Given the description of an element on the screen output the (x, y) to click on. 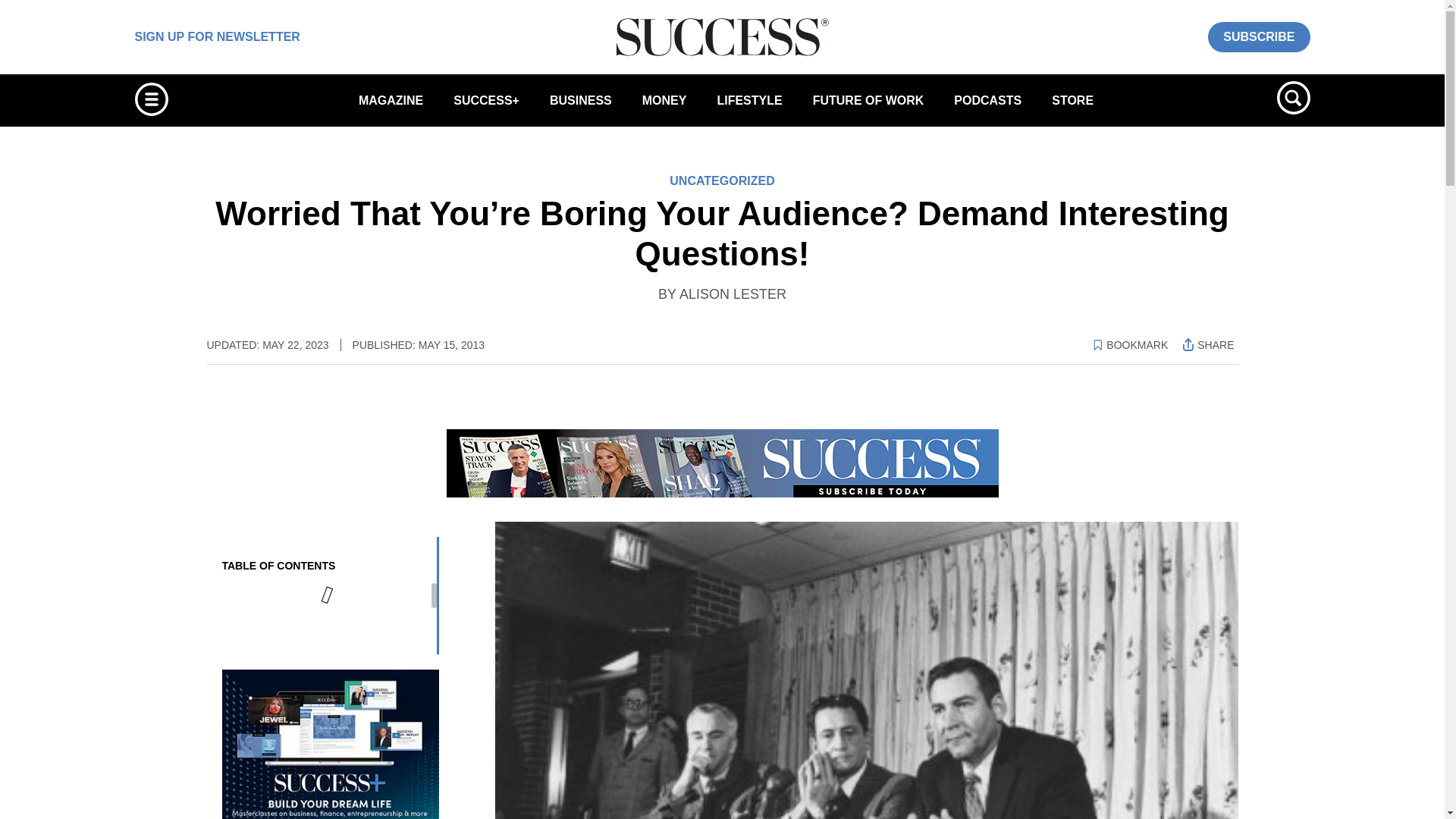
STORE (1072, 100)
MAGAZINE (390, 100)
SIGN UP FOR NEWSLETTER (217, 36)
PODCASTS (987, 100)
SUBSCRIBE (1258, 36)
BUSINESS (580, 100)
FUTURE OF WORK (868, 100)
MONEY (664, 100)
LIFESTYLE (748, 100)
